Given the description of an element on the screen output the (x, y) to click on. 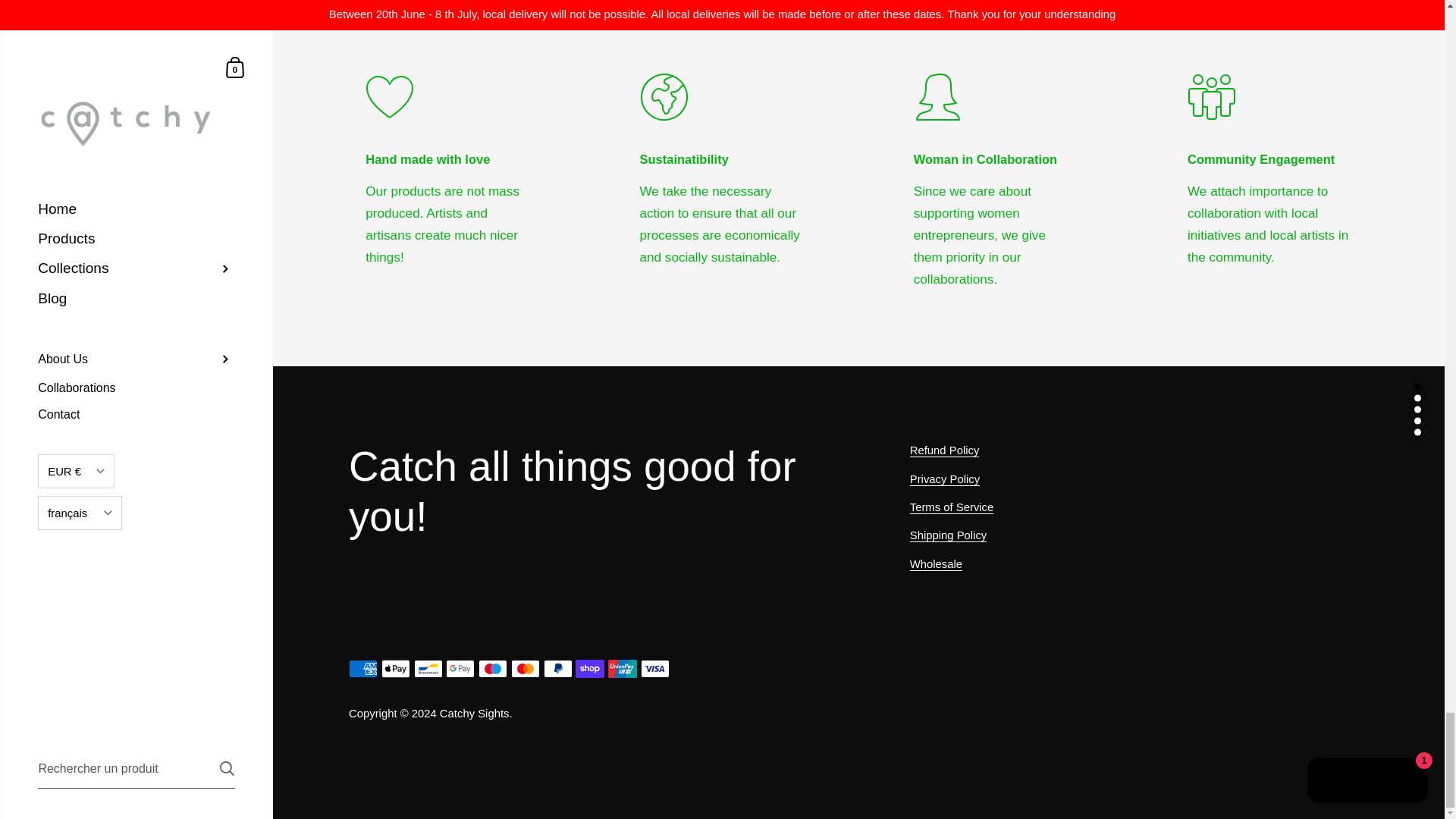
Bancontact (427, 669)
Maestro (492, 669)
Mastercard (525, 669)
American Express (363, 669)
Apple Pay (395, 669)
Google Pay (459, 669)
PayPal (557, 669)
